Given the description of an element on the screen output the (x, y) to click on. 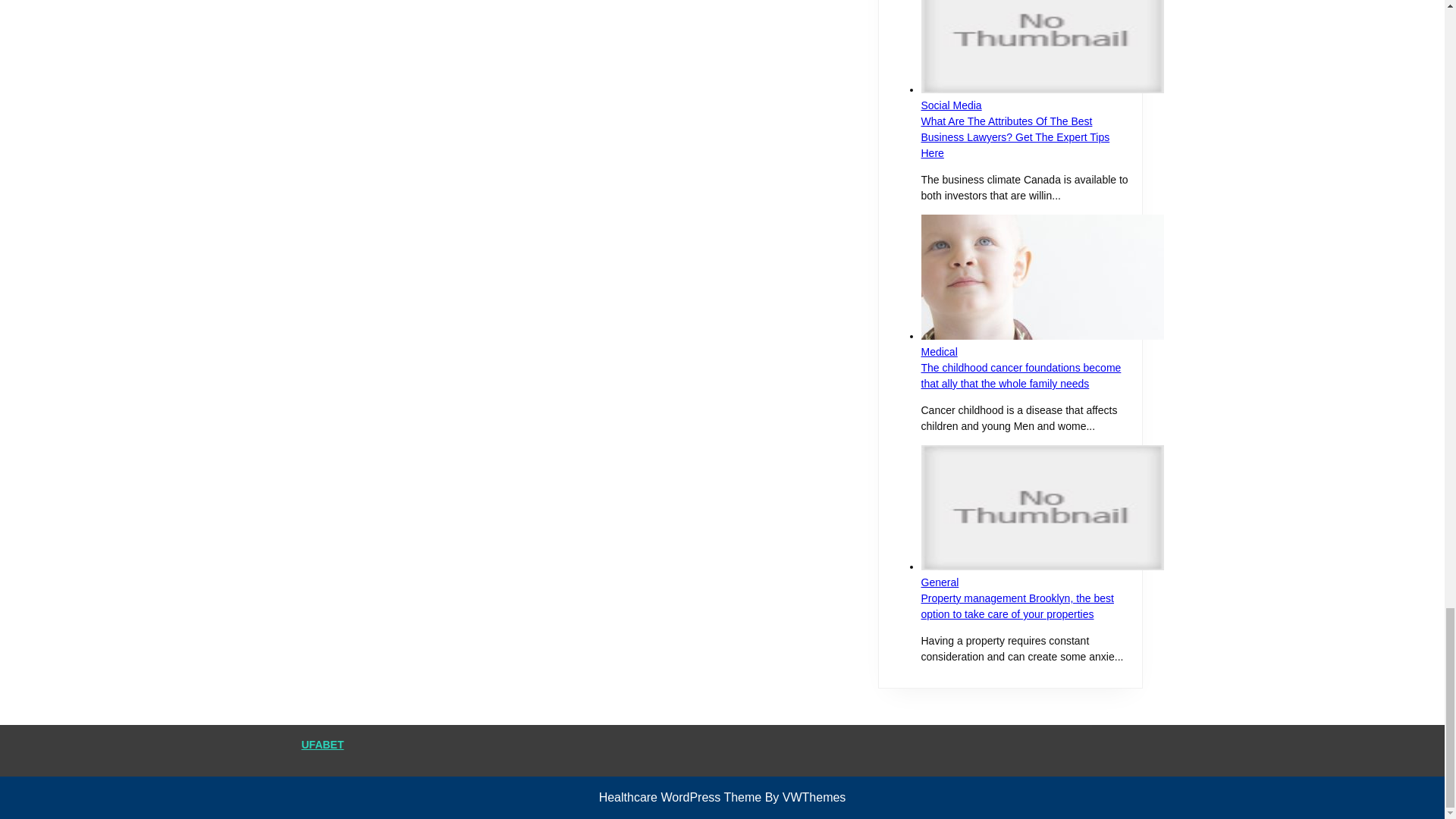
UFABET (322, 744)
